Given the description of an element on the screen output the (x, y) to click on. 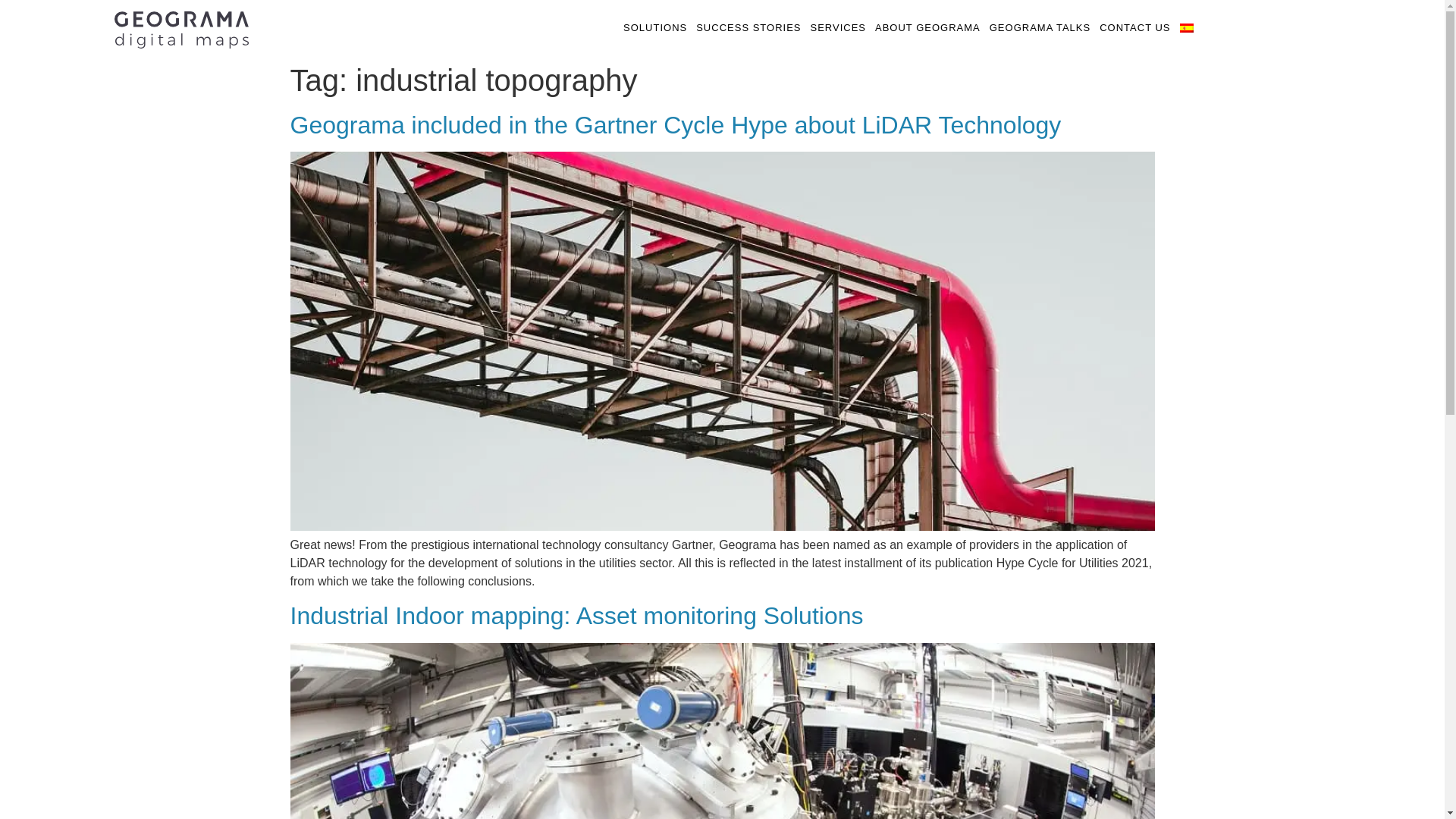
CONTACT US (1134, 27)
SOLUTIONS (654, 27)
GEOGRAMA TALKS (1039, 27)
SERVICES (837, 27)
SUCCESS STORIES (748, 27)
ABOUT GEOGRAMA (927, 27)
